Given the description of an element on the screen output the (x, y) to click on. 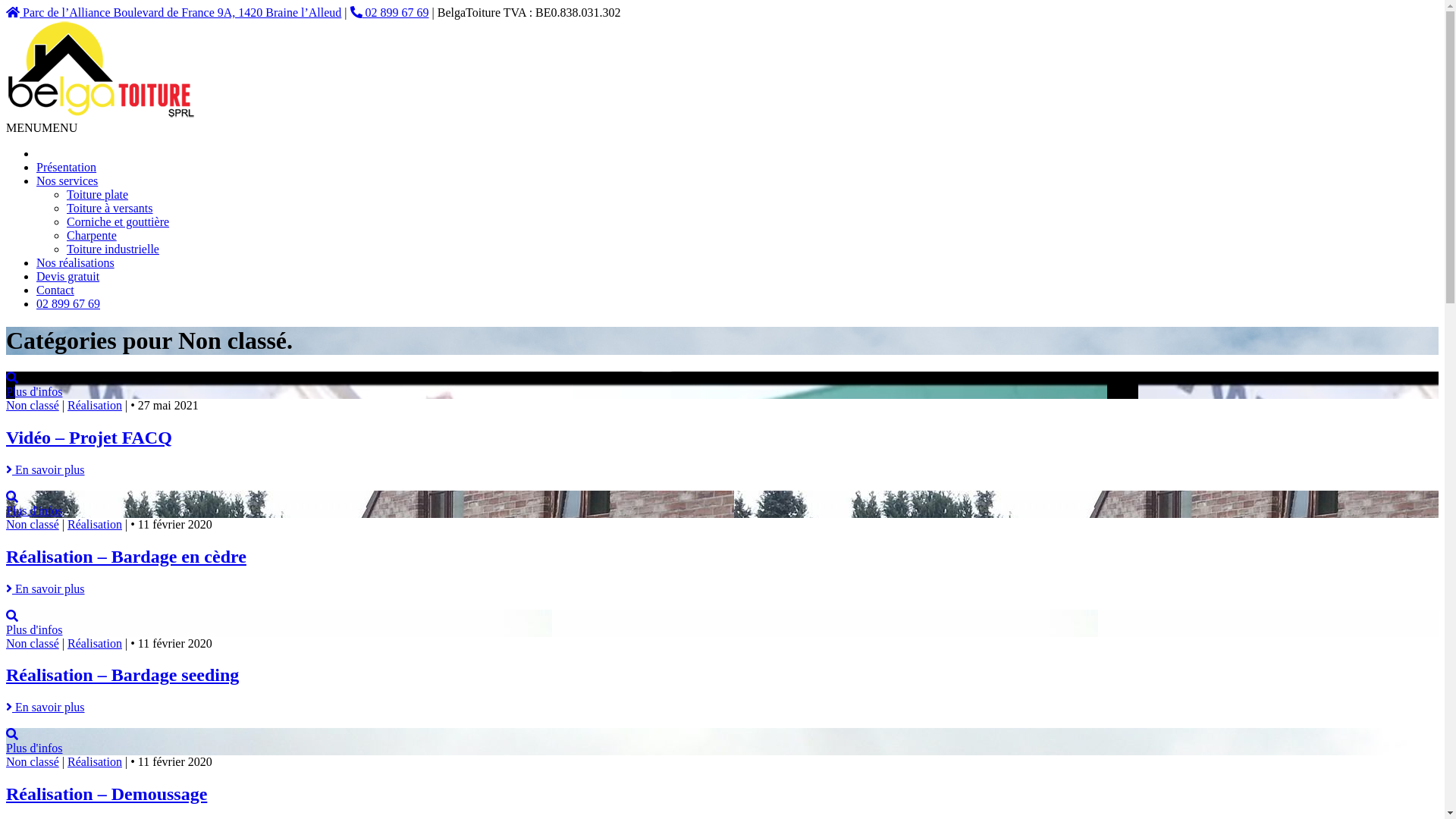
02 899 67 69 Element type: text (68, 303)
En savoir plus Element type: text (45, 706)
Toiture plate Element type: text (97, 194)
Plus d'infos Element type: text (722, 623)
Toiture industrielle Element type: text (112, 248)
En savoir plus Element type: text (45, 588)
Plus d'infos Element type: text (722, 503)
En savoir plus Element type: text (45, 469)
Plus d'infos Element type: text (722, 741)
Devis gratuit Element type: text (67, 275)
Nos services Element type: text (66, 180)
Charpente Element type: text (91, 235)
Plus d'infos Element type: text (722, 384)
02 899 67 69 Element type: text (389, 12)
Contact Element type: text (55, 289)
